Given the description of an element on the screen output the (x, y) to click on. 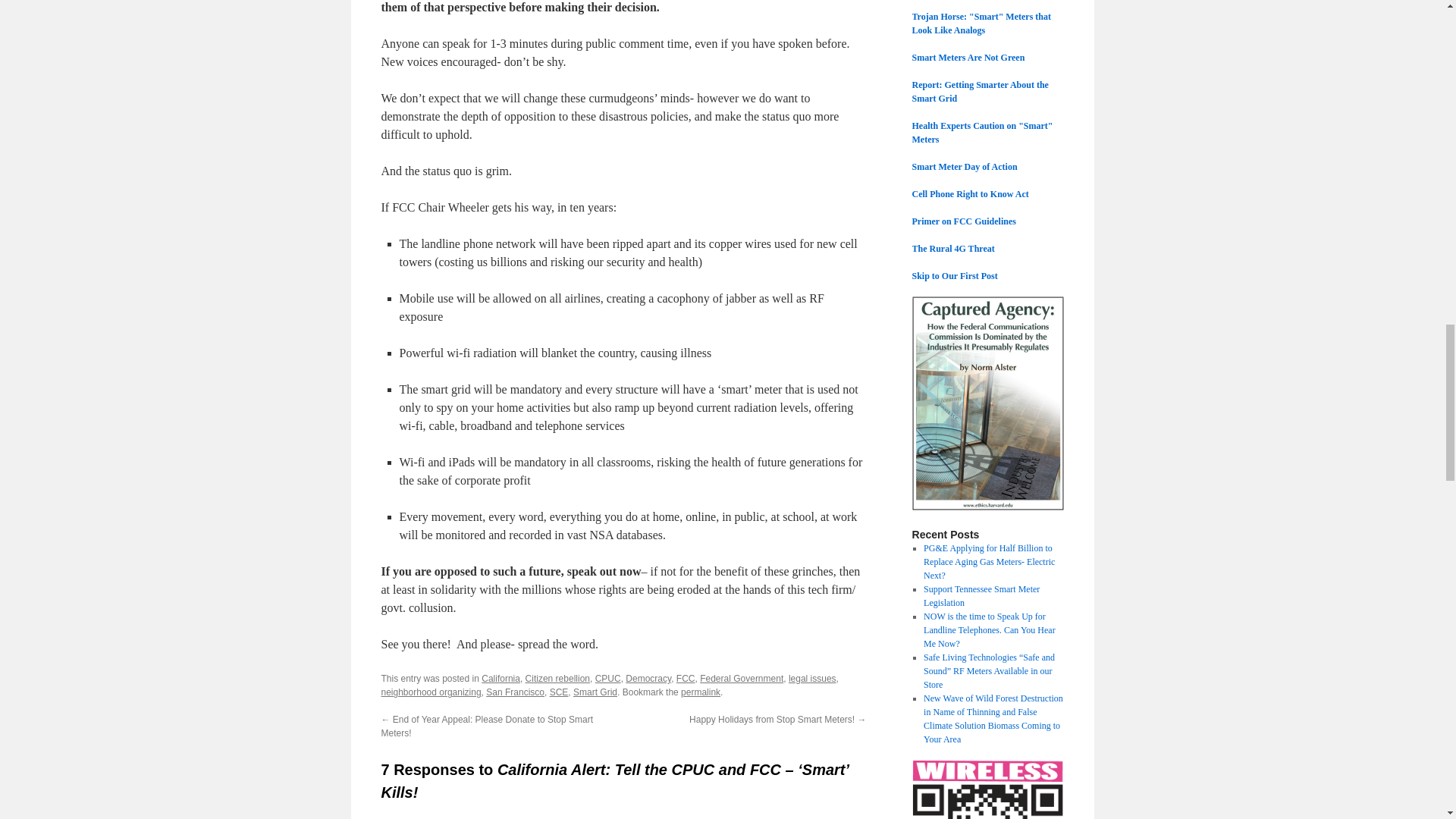
Federal Government (741, 678)
Smart Grid (595, 692)
Citizen rebellion (557, 678)
permalink (700, 692)
legal issues (812, 678)
CPUC (608, 678)
Democracy (648, 678)
neighborhood organizing (430, 692)
SCE (559, 692)
FCC (686, 678)
San Francisco (515, 692)
California (500, 678)
